Given the description of an element on the screen output the (x, y) to click on. 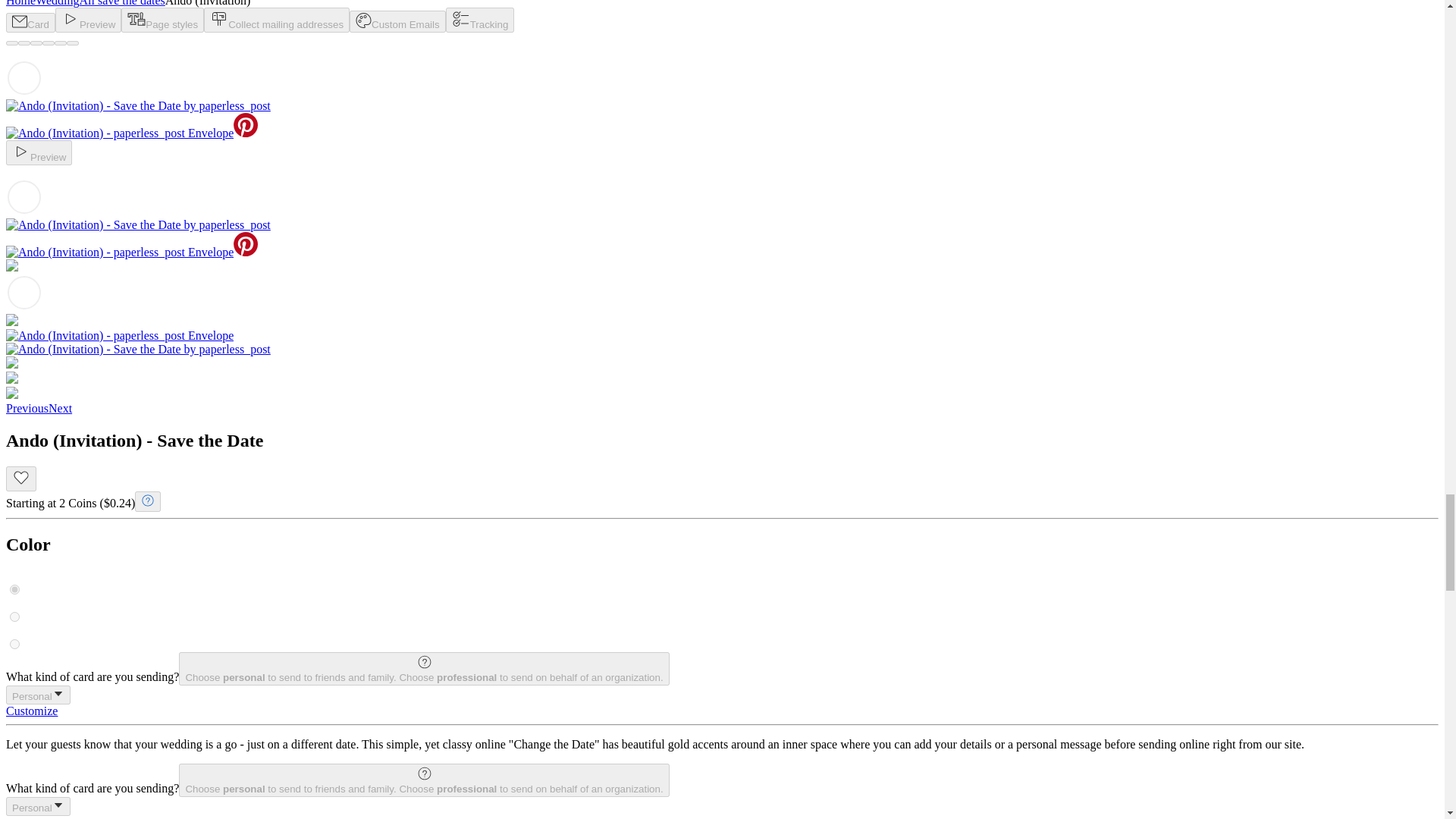
Pinterest icon (244, 125)
tracking icon (460, 18)
on (15, 589)
Mailing address icon (218, 18)
Page style icon (136, 18)
play icon (20, 151)
on (15, 644)
Loading... (23, 77)
Closed envelope (19, 21)
Art icon (363, 20)
